Given the description of an element on the screen output the (x, y) to click on. 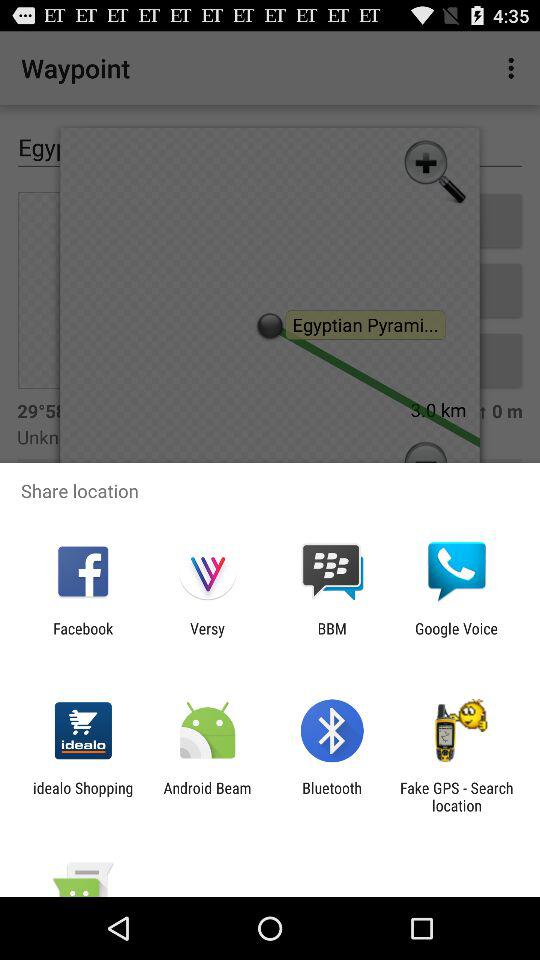
choose the icon to the right of android beam app (331, 796)
